Given the description of an element on the screen output the (x, y) to click on. 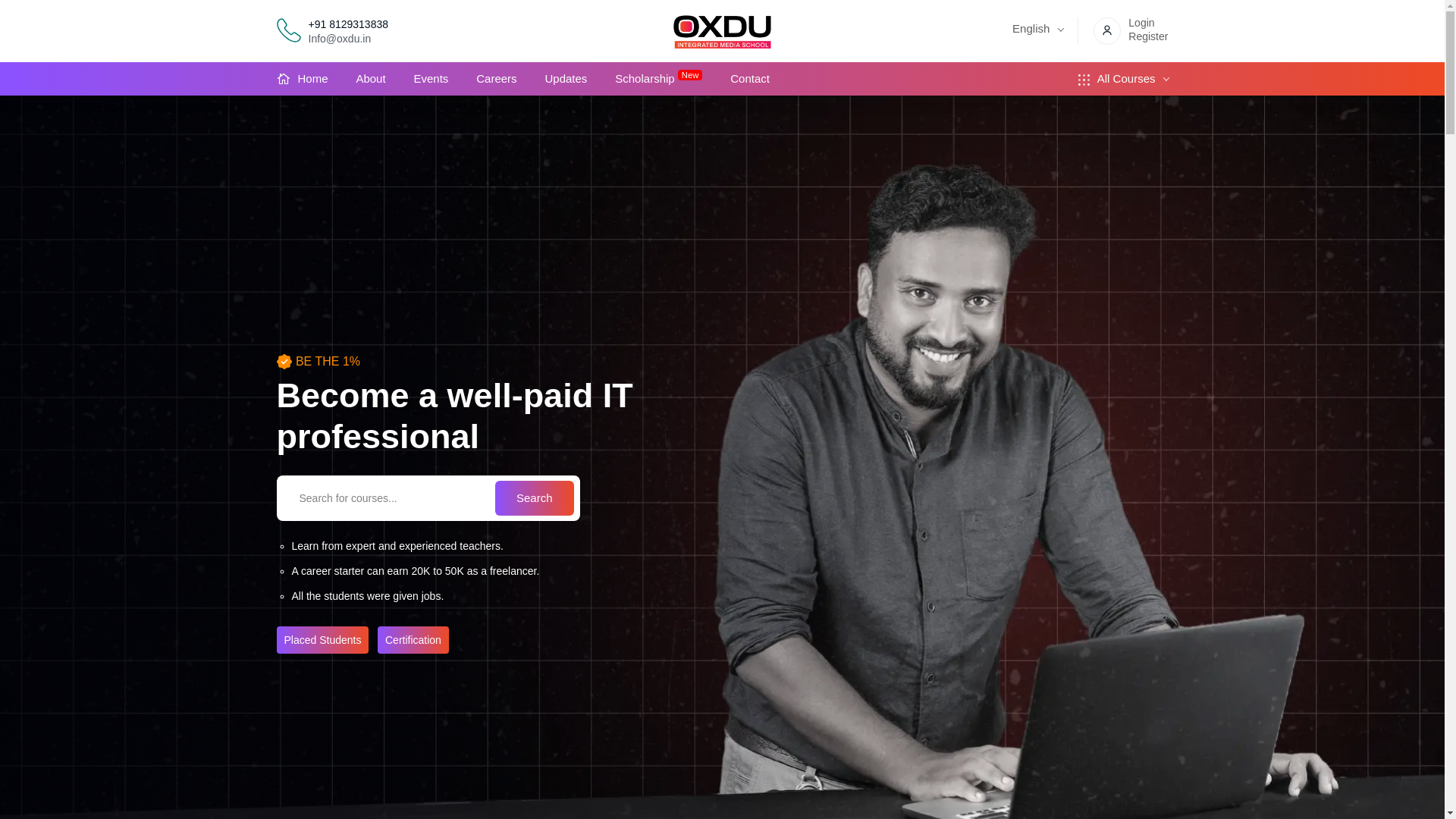
Register (1147, 31)
Scholarship New (657, 78)
Events (430, 78)
Contact (750, 78)
Placed Students (322, 639)
Careers (496, 78)
Updates (565, 78)
Login (1141, 15)
Home (312, 78)
Certification (412, 639)
